Given the description of an element on the screen output the (x, y) to click on. 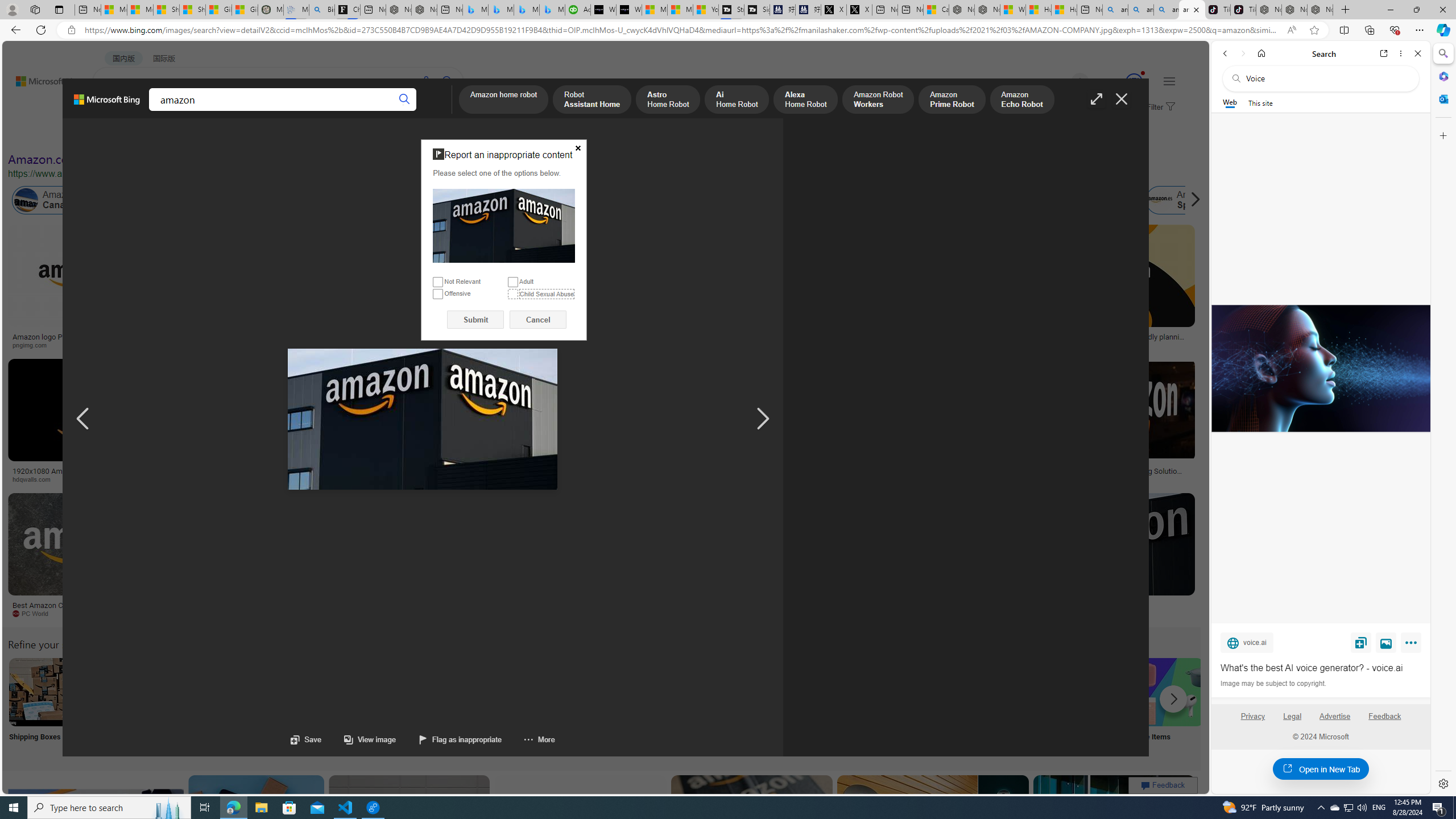
downdetector.ae (937, 344)
theverge.com (1118, 344)
Offensive (437, 293)
Privacy (1252, 720)
Amazon (1032, 605)
Bing Real Estate - Home sales and rental listings (321, 9)
voice.ai (1247, 642)
hdqwalls.com (35, 479)
Microsoft Bing, Back to Bing search (106, 104)
